Given the description of an element on the screen output the (x, y) to click on. 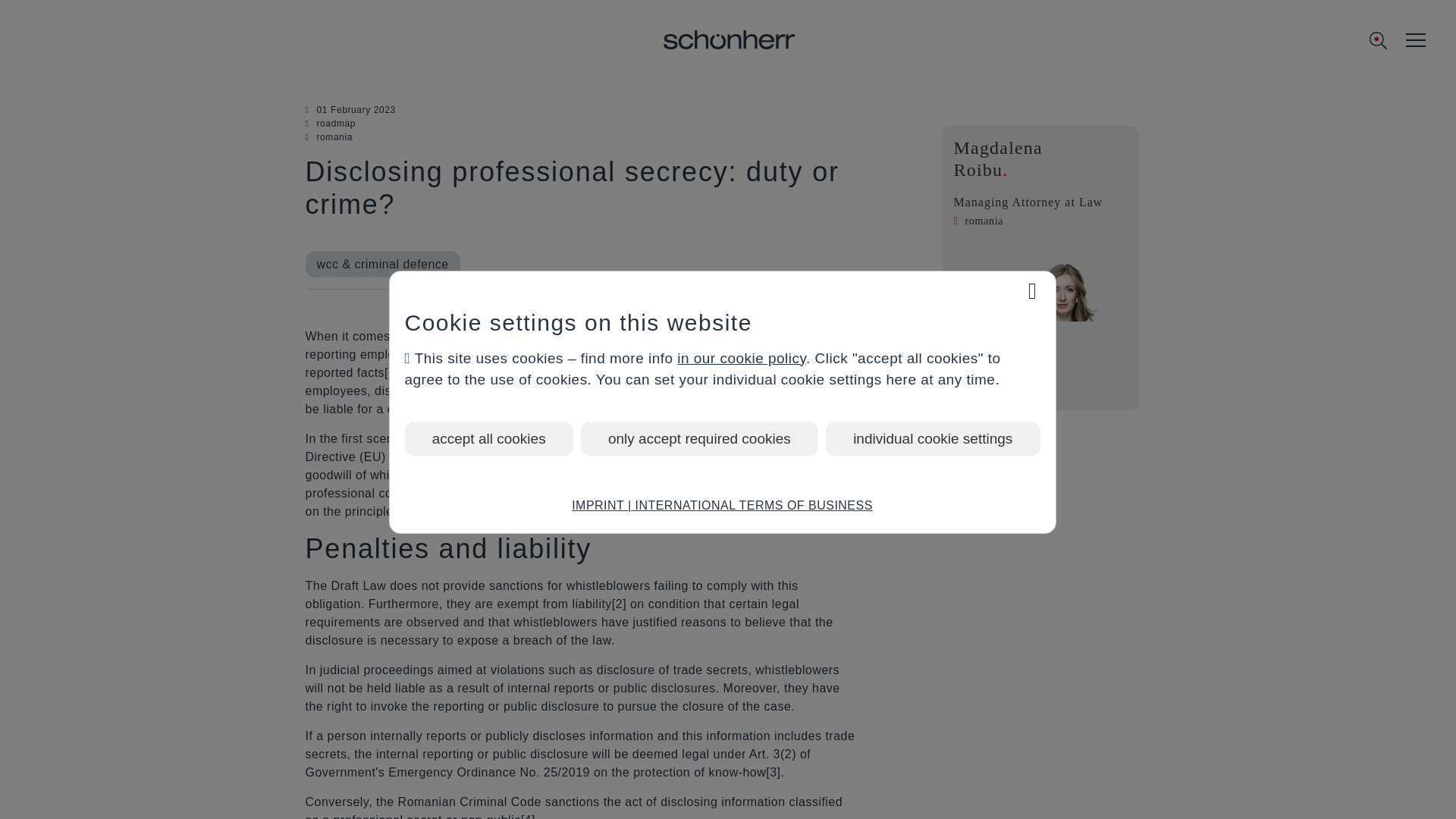
more (1040, 390)
download contact (1055, 353)
Schonherr (729, 39)
Schonherr (729, 40)
